Given the description of an element on the screen output the (x, y) to click on. 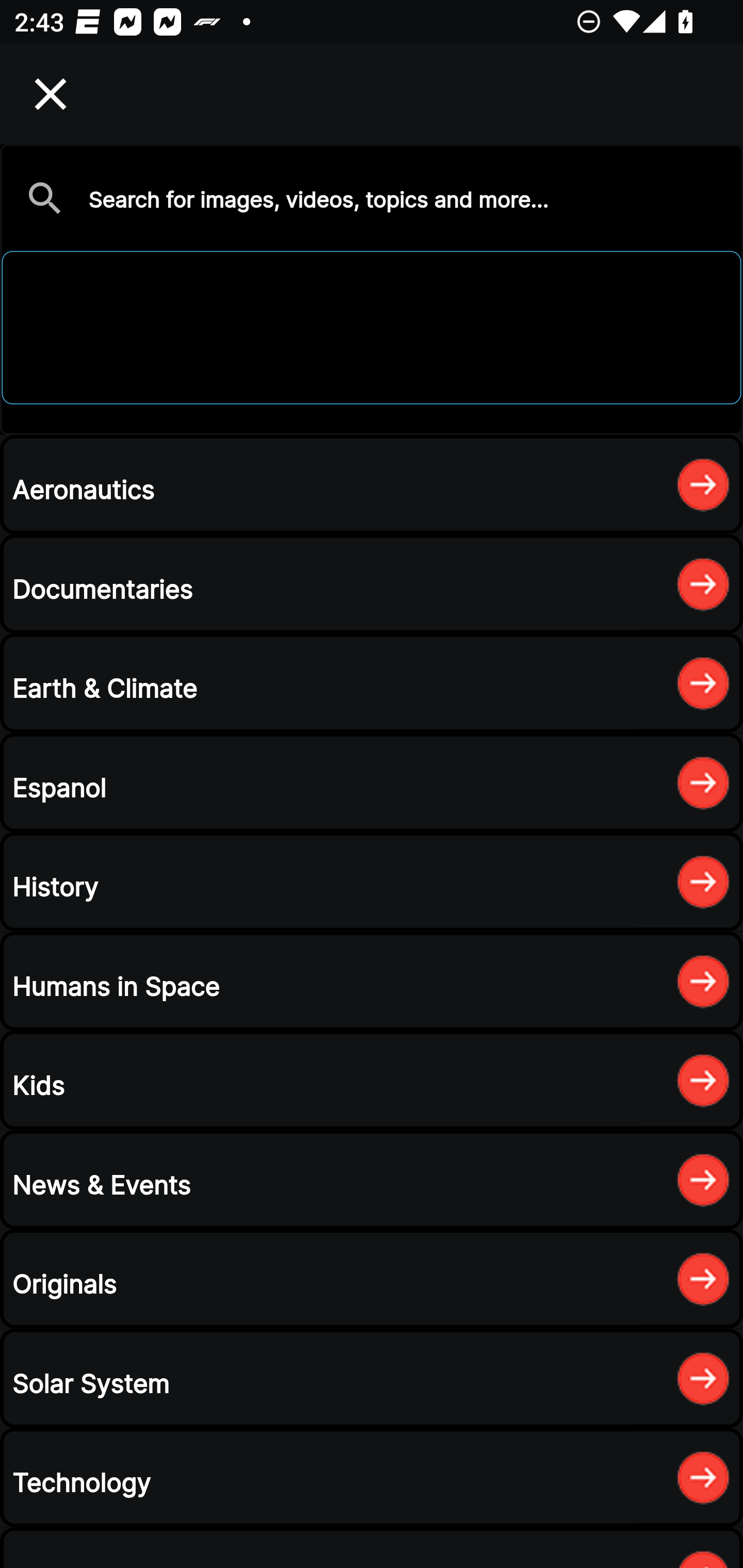
Galaxy (371, 289)
Aeronautics (371, 484)
Documentaries (371, 583)
Earth & Climate (371, 682)
Espanol (371, 782)
History (371, 881)
Humans in Space (371, 980)
Kids (371, 1080)
News & Events (371, 1179)
Originals (371, 1278)
Solar System (371, 1378)
Technology (371, 1477)
